Given the description of an element on the screen output the (x, y) to click on. 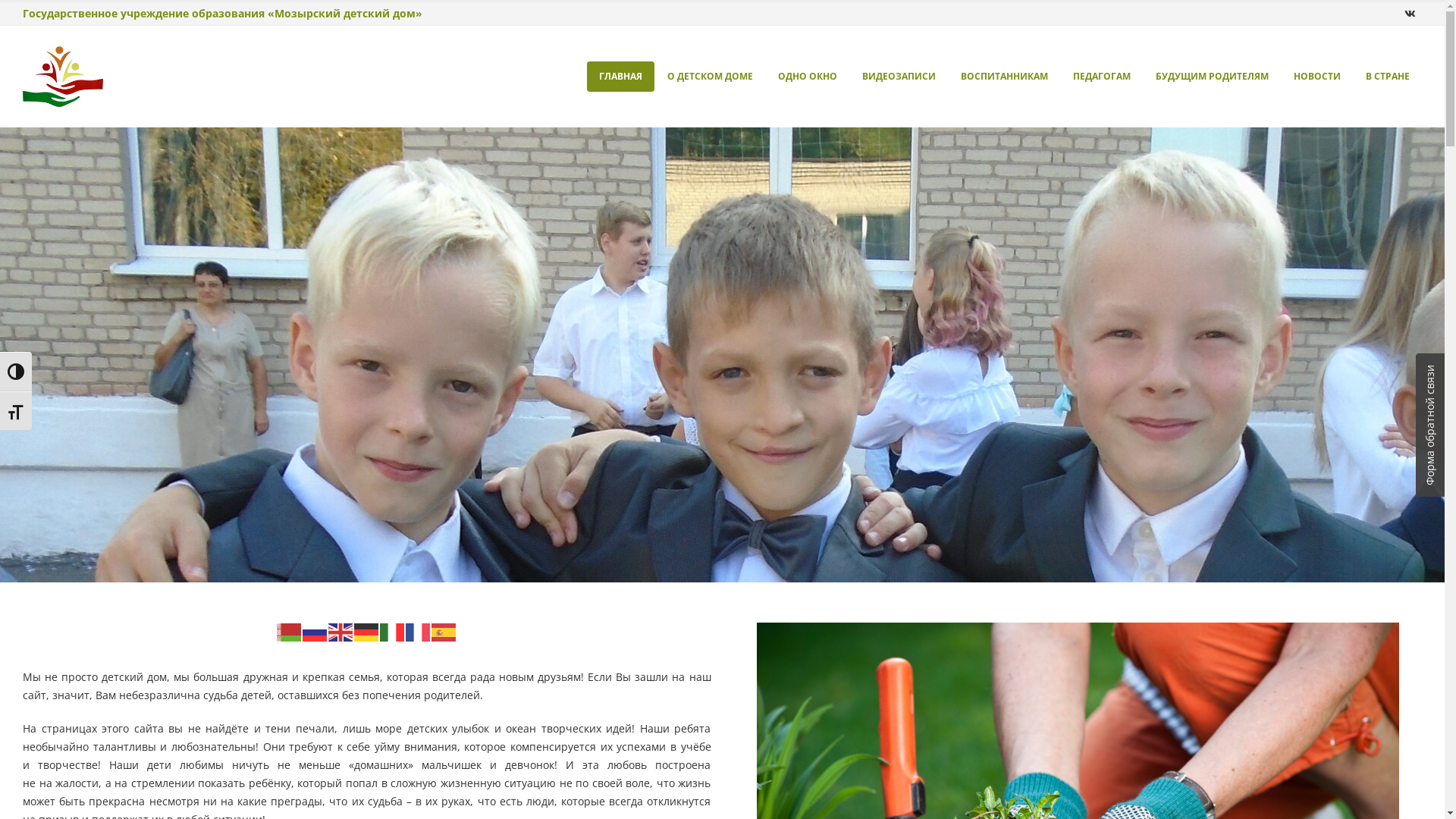
Toggle Font size Element type: text (15, 410)
Toggle High Contrast Element type: text (15, 371)
English Element type: hover (341, 631)
French Element type: hover (418, 631)
Italian Element type: hover (392, 631)
Belarusian Element type: hover (289, 631)
Russian Element type: hover (315, 631)
Spanish Element type: hover (444, 631)
German Element type: hover (366, 631)
VK Element type: hover (1409, 13)
